Given the description of an element on the screen output the (x, y) to click on. 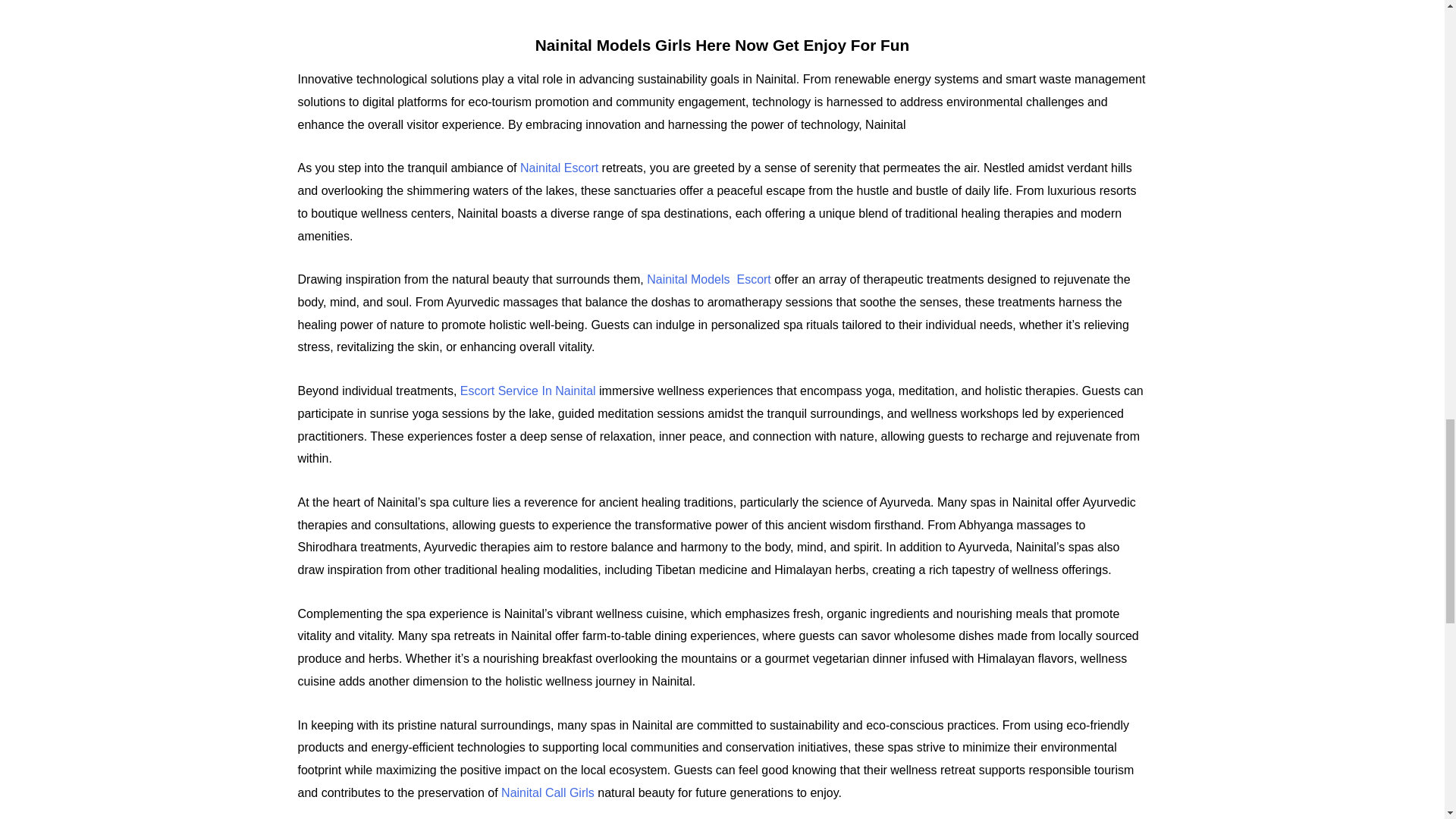
Escort Service In Nainital (527, 390)
Nainital Models  Escort (708, 278)
Nainital Call Girls (547, 792)
Nainital Escort (558, 167)
